Given the description of an element on the screen output the (x, y) to click on. 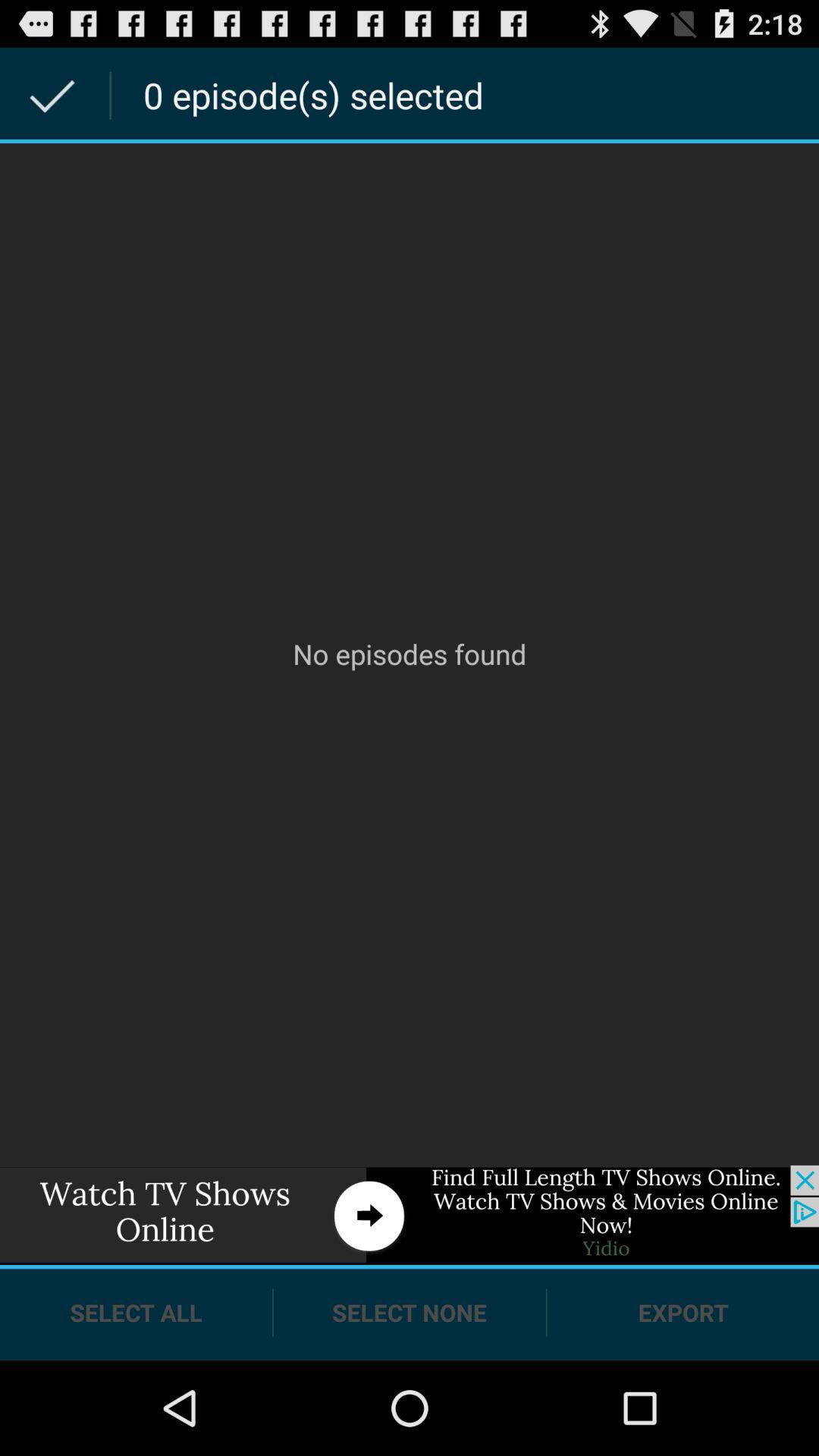
click advertisement to go to advertisement page (409, 1214)
